Given the description of an element on the screen output the (x, y) to click on. 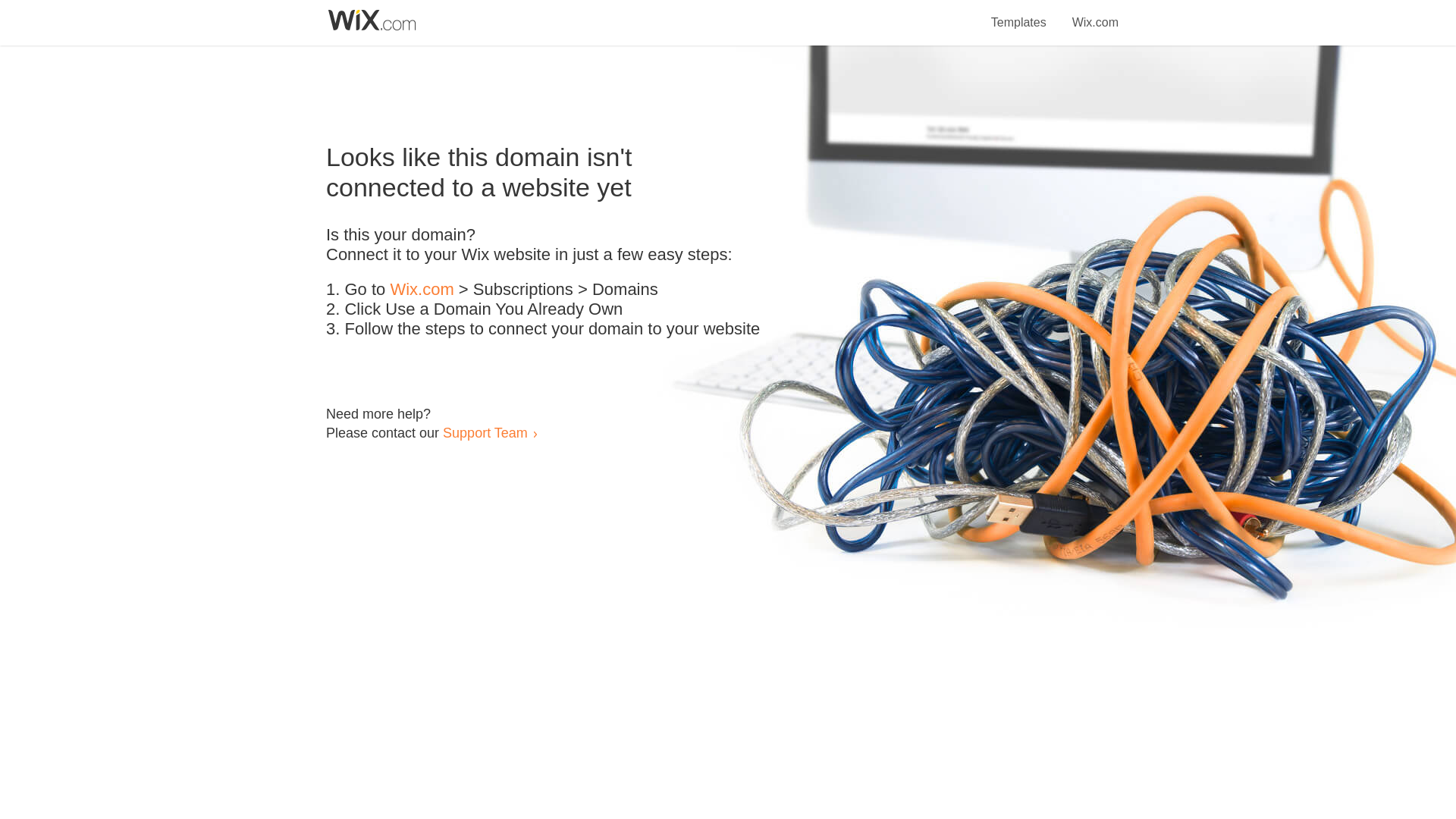
Support Team (484, 432)
Wix.com (1095, 14)
Wix.com (421, 289)
Templates (1018, 14)
